Given the description of an element on the screen output the (x, y) to click on. 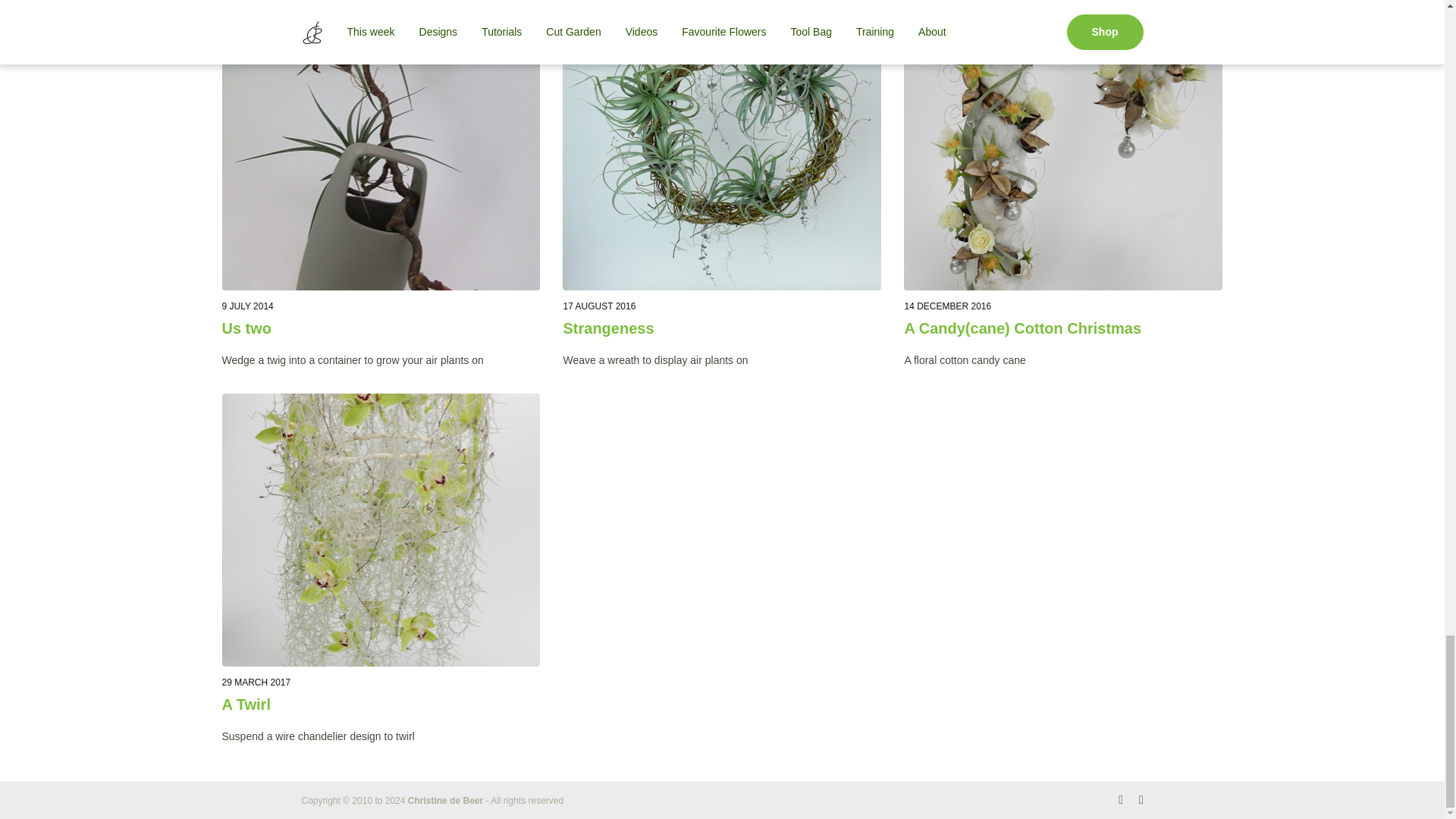
A Twirl (380, 529)
Strangeness (721, 328)
Strangeness (721, 153)
Us two (380, 153)
A Twirl (380, 704)
Us two (380, 328)
